Given the description of an element on the screen output the (x, y) to click on. 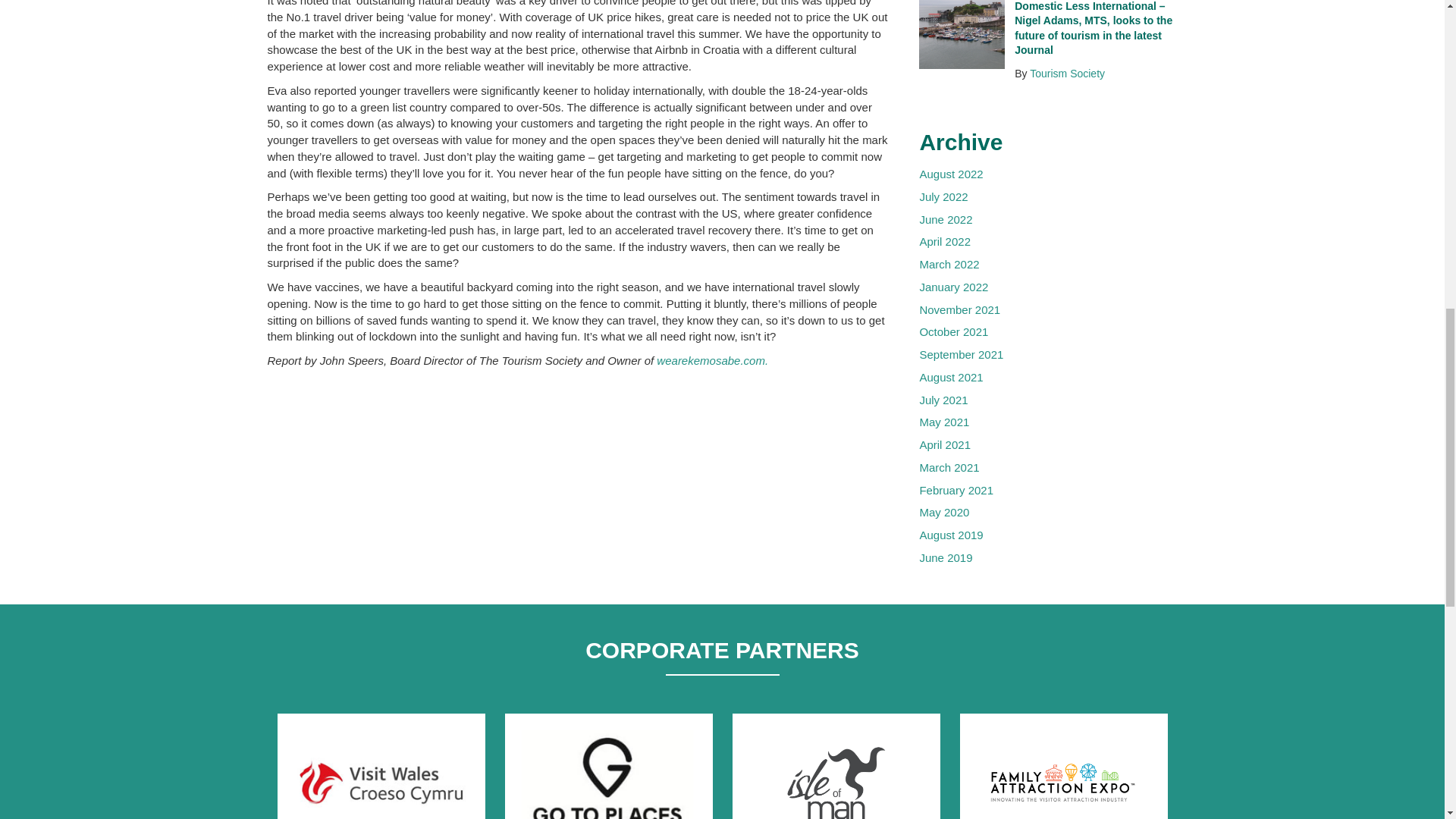
wearekemosabe.com. (712, 359)
